Given the description of an element on the screen output the (x, y) to click on. 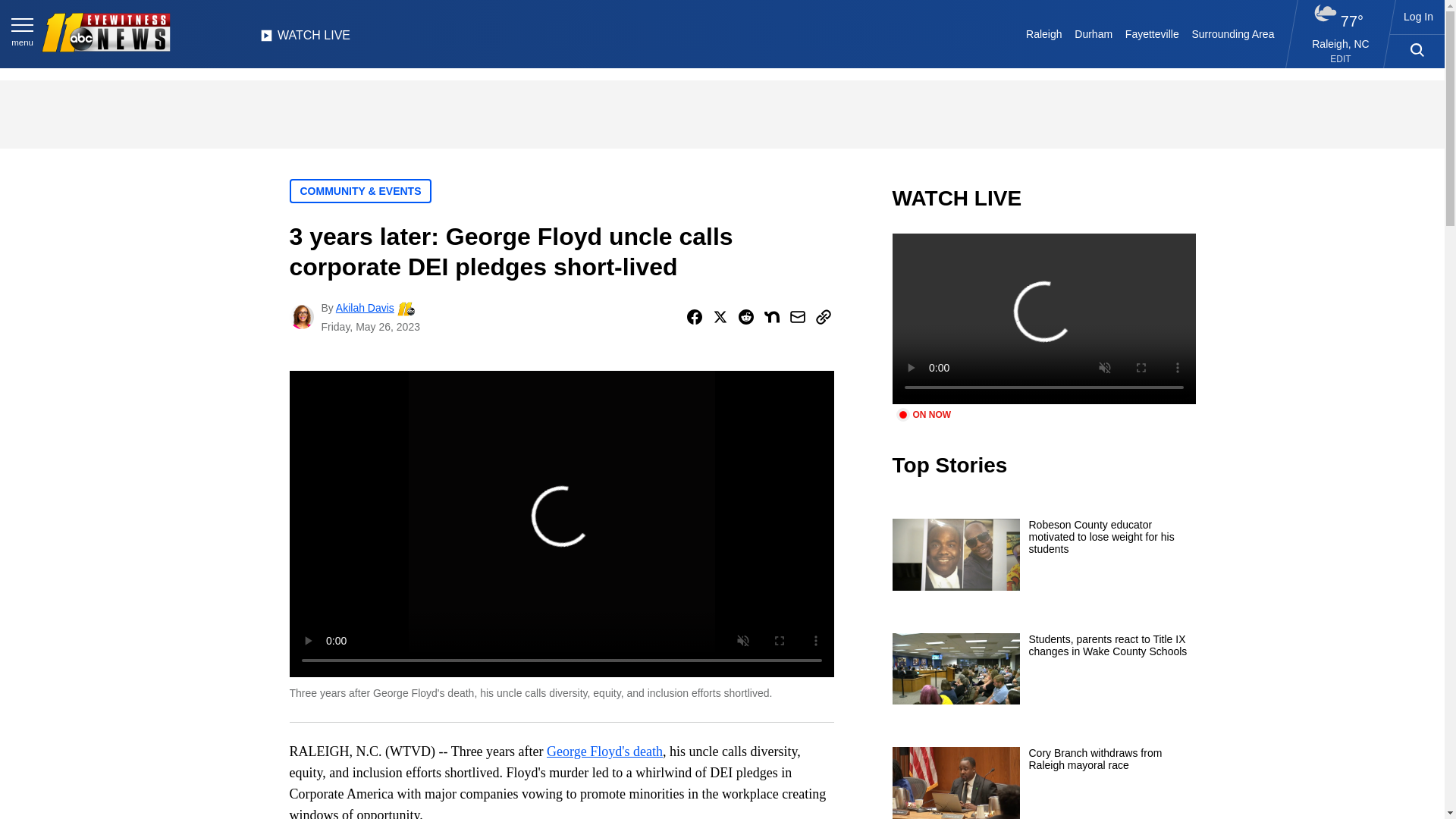
Surrounding Area (1233, 33)
Raleigh (1044, 33)
WATCH LIVE (305, 39)
Durham (1093, 33)
video.title (1043, 318)
Fayetteville (1151, 33)
Raleigh, NC (1340, 43)
EDIT (1340, 59)
